Given the description of an element on the screen output the (x, y) to click on. 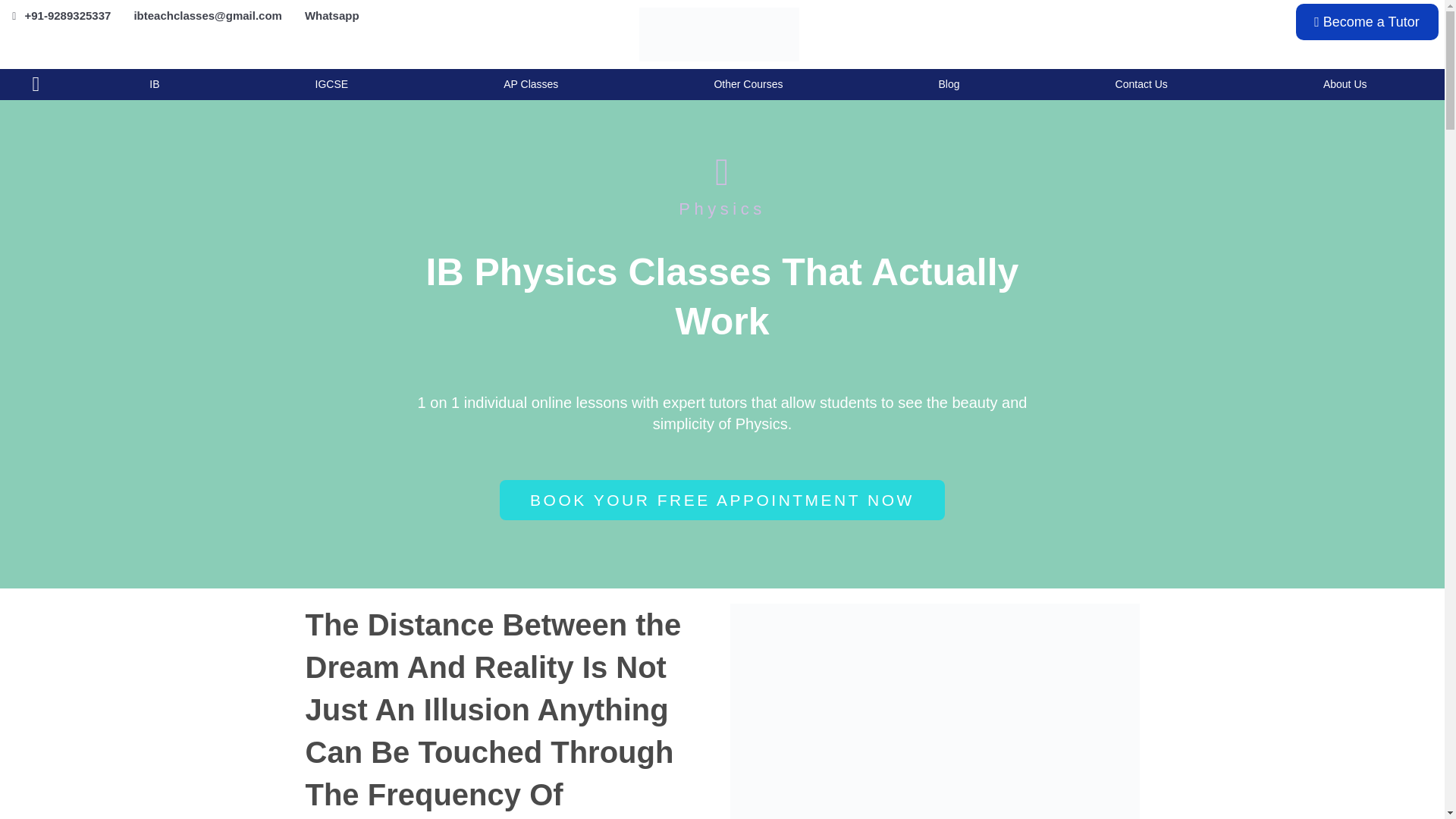
Become a Tutor (1366, 22)
Whatsapp (330, 16)
